Given the description of an element on the screen output the (x, y) to click on. 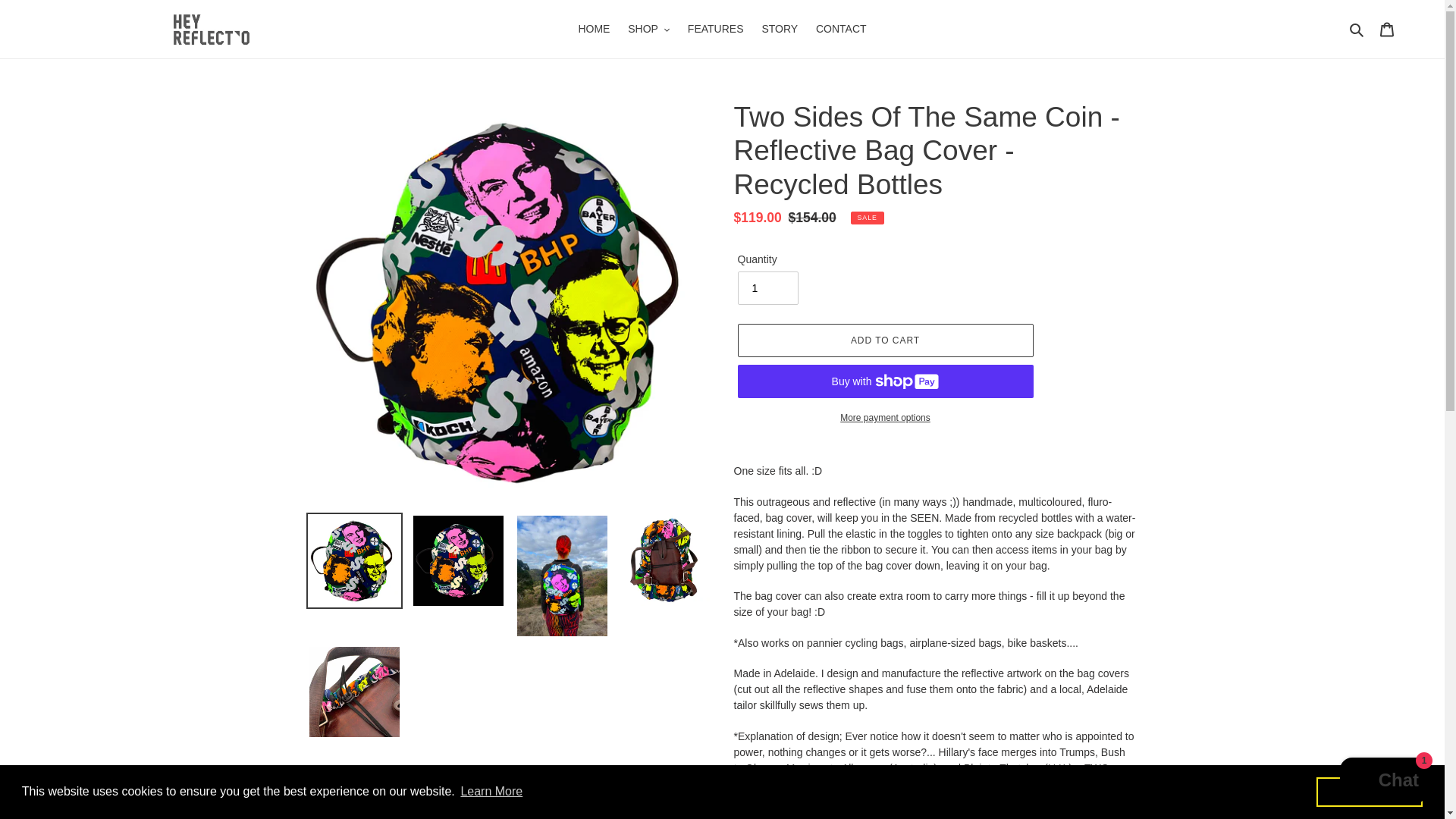
Search (1357, 28)
Shopify online store chat (1383, 781)
Learn More (491, 791)
SHOP (648, 28)
Got it! (1369, 791)
CONTACT (841, 28)
FEATURES (715, 28)
Cart (1387, 29)
1 (766, 287)
HOME (593, 28)
STORY (779, 28)
